Given the description of an element on the screen output the (x, y) to click on. 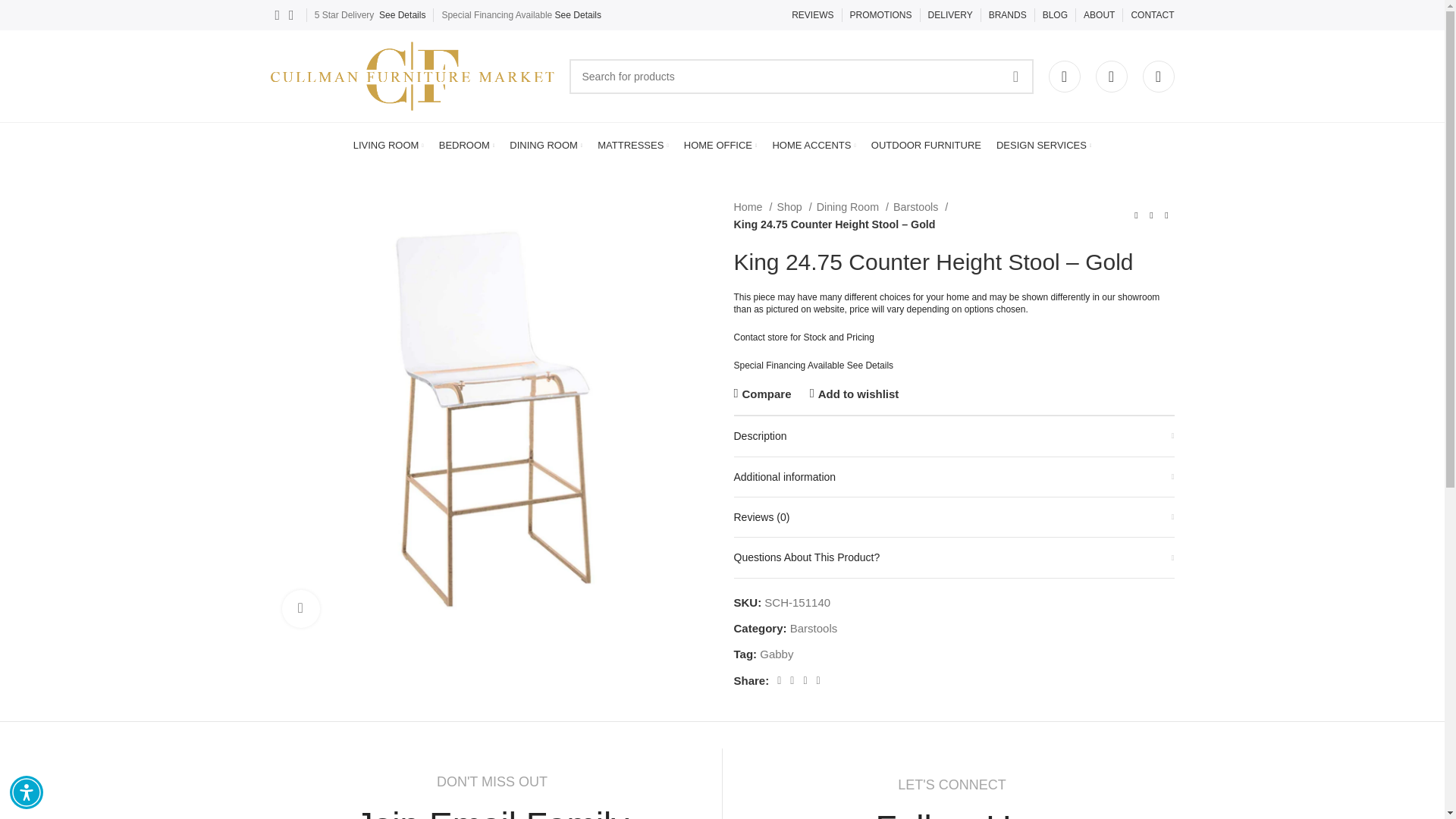
PROMOTIONS (881, 15)
BRANDS (1007, 15)
Search for products (800, 76)
My Wishlist (1110, 75)
LIVING ROOM (388, 145)
CONTACT (1152, 15)
ABOUT (1099, 15)
See Details (401, 14)
Log in (954, 394)
BEDROOM (467, 145)
DELIVERY (950, 15)
My account (1064, 75)
SEARCH (1014, 76)
Compare products (1157, 75)
